Given the description of an element on the screen output the (x, y) to click on. 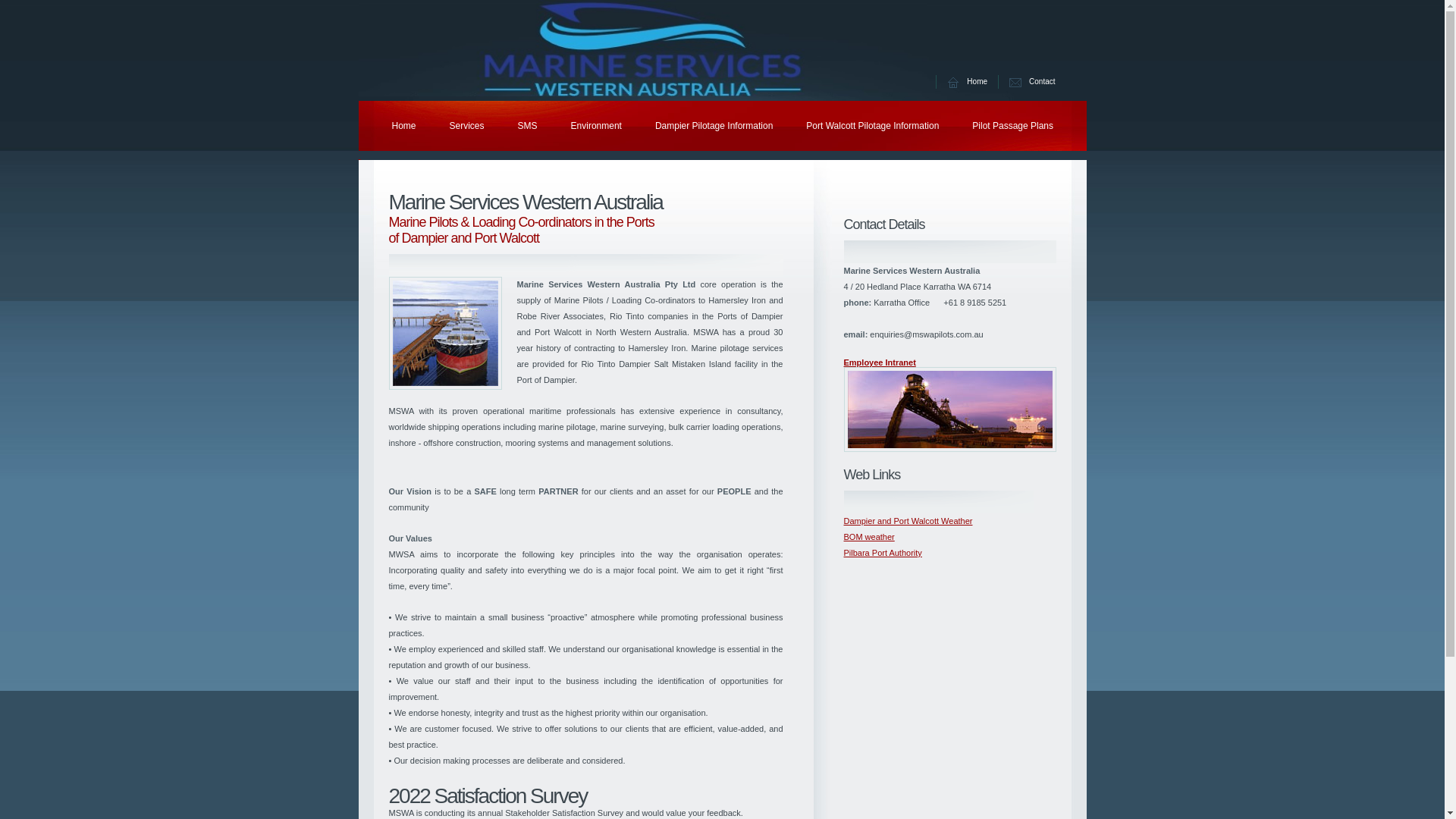
Contact Element type: text (1041, 81)
Home Element type: text (403, 125)
SMS Element type: text (527, 125)
Employee Intranet Element type: text (879, 362)
Dampier Pilotage Information Element type: text (713, 125)
Environment Element type: text (596, 125)
Dampier and Port Walcott Weather Element type: text (907, 520)
Pilot Passage Plans Element type: text (1012, 125)
Home Element type: text (976, 81)
BOM weather Element type: text (868, 536)
  Element type: text (358, 155)
Services Element type: text (466, 125)
Port Walcott Pilotage Information Element type: text (872, 125)
Pilbara Port Authority Element type: text (882, 552)
